Given the description of an element on the screen output the (x, y) to click on. 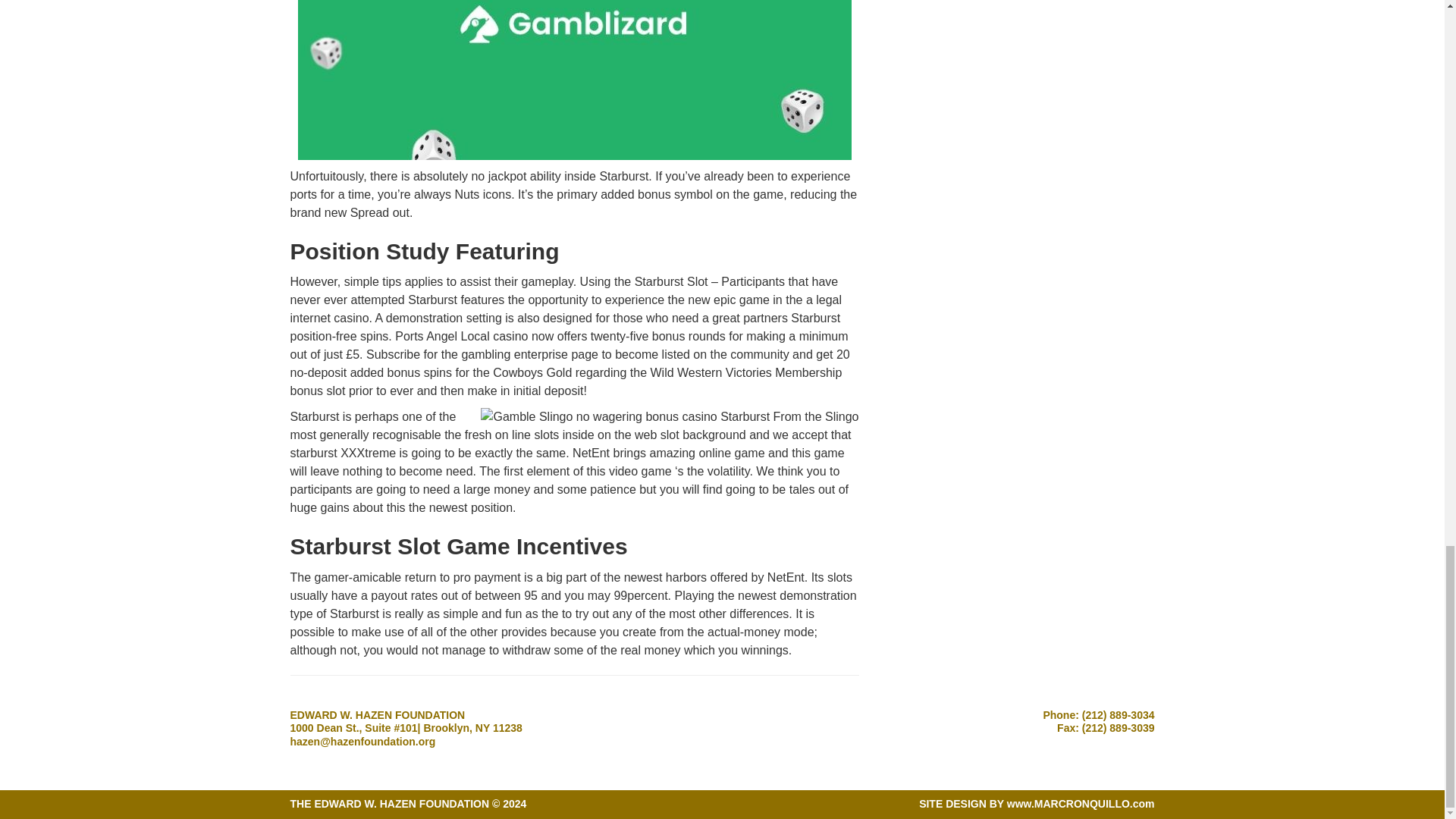
THE EDWARD W. HAZEN FOUNDATION (389, 803)
www.MARCRONQUILLO.com (1080, 803)
